Given the description of an element on the screen output the (x, y) to click on. 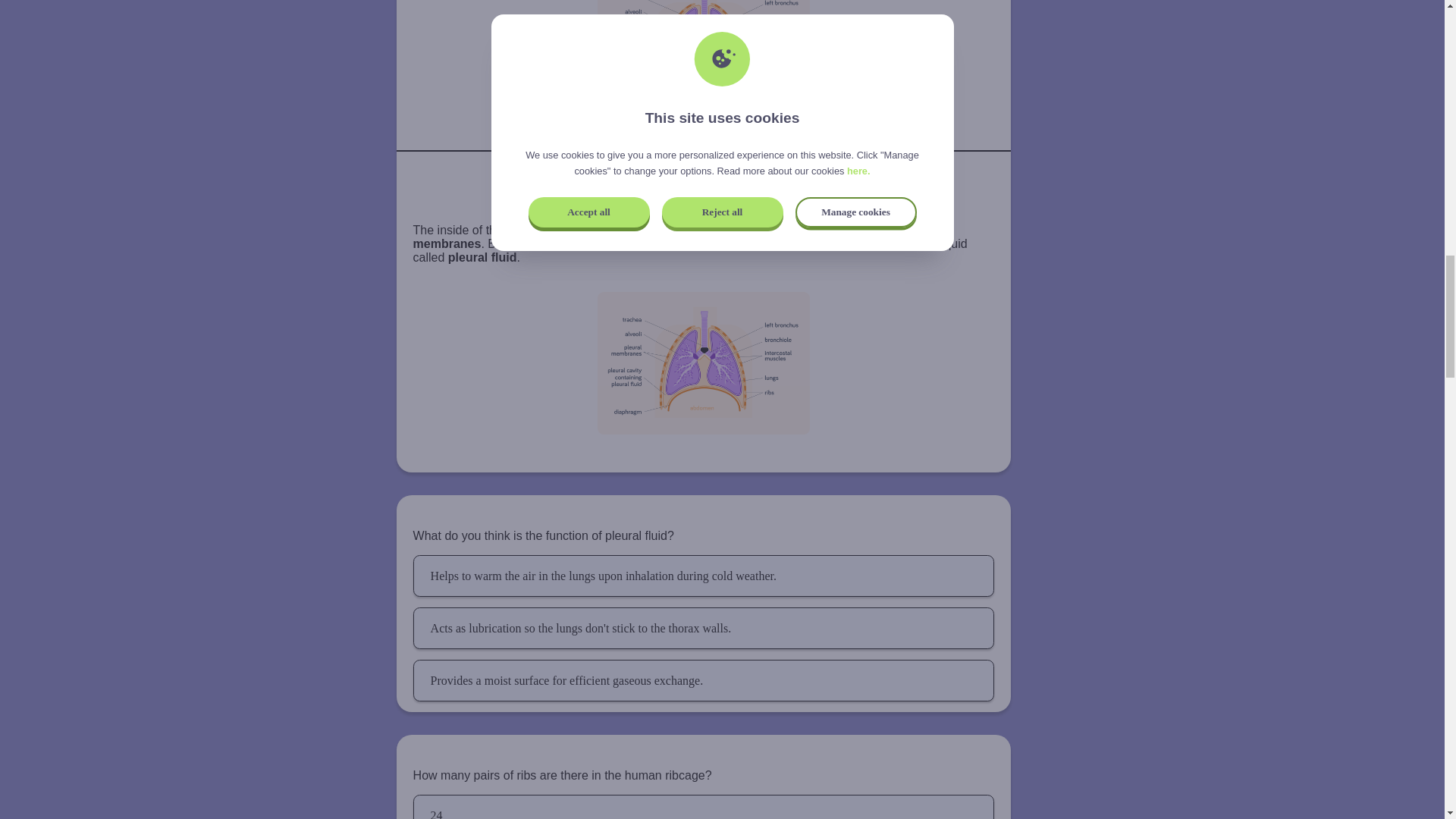
24 (703, 806)
Provides a moist surface for efficient gaseous exchange. (703, 680)
